Given the description of an element on the screen output the (x, y) to click on. 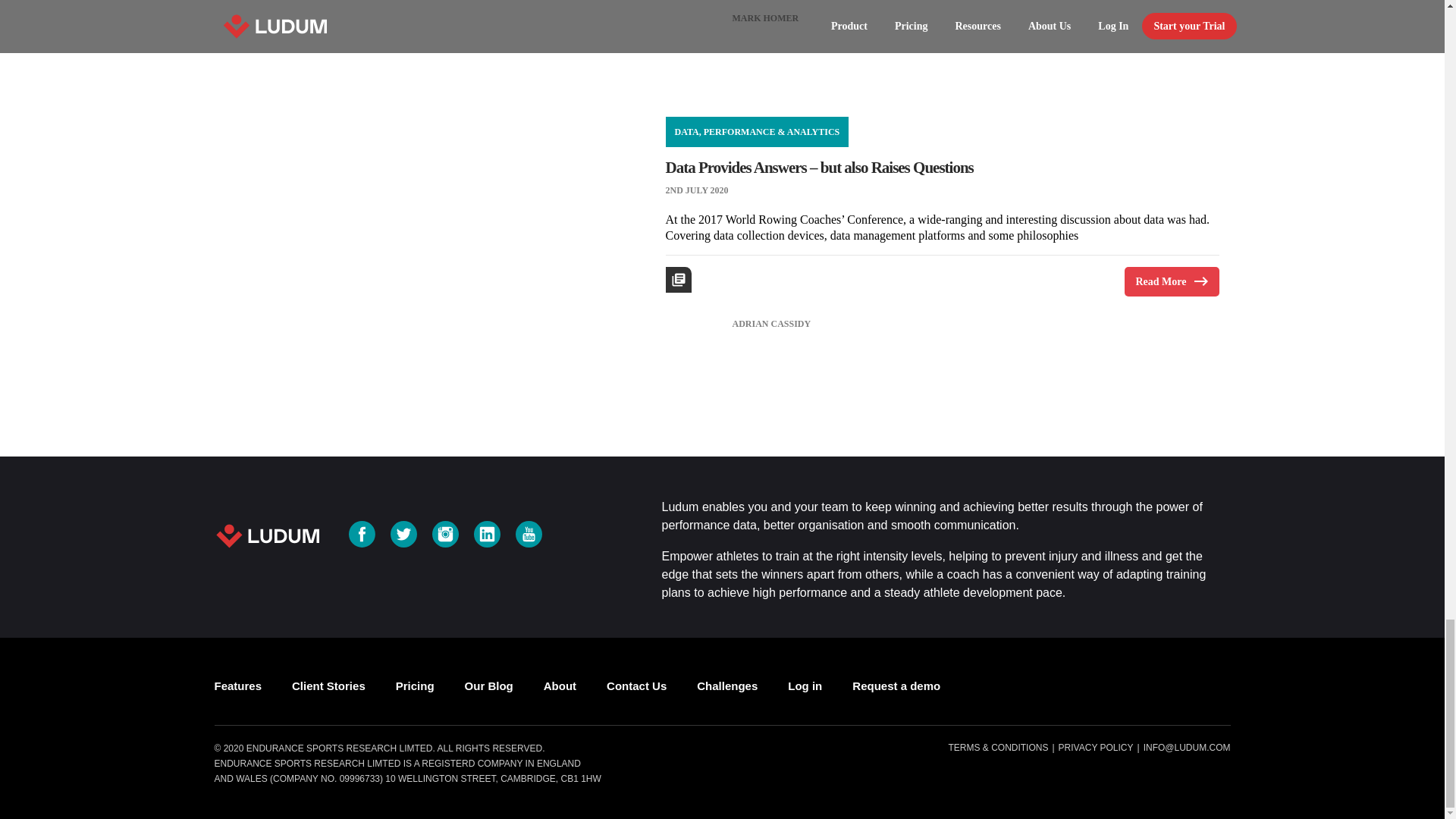
Follow us on Twitter (403, 533)
Follow us on Instagram (445, 533)
View our profile on LinkedIn (487, 533)
Watch our videos on YouTube (528, 533)
View us on Facebook (362, 533)
